Given the description of an element on the screen output the (x, y) to click on. 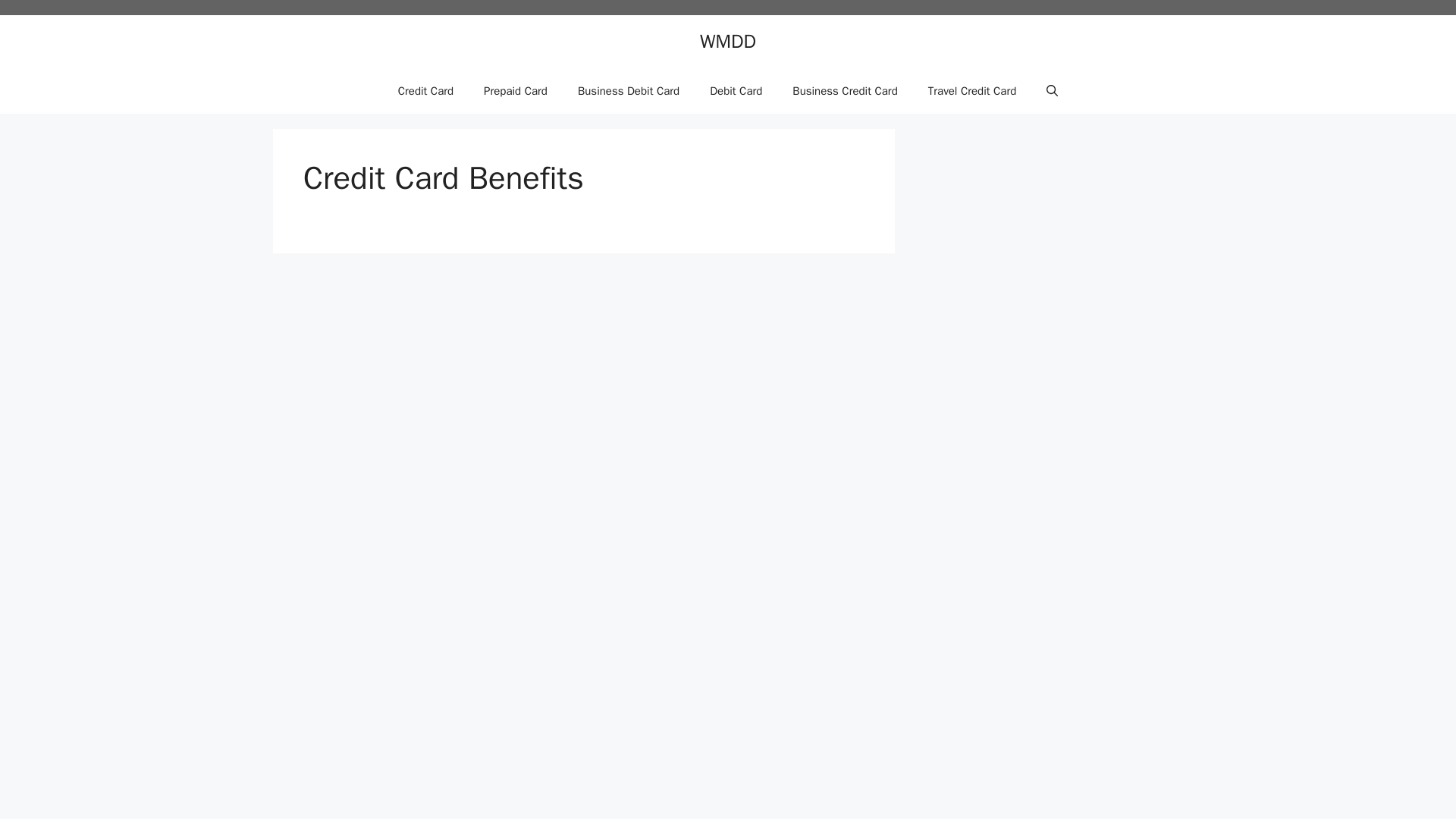
Business Debit Card (628, 90)
Business Credit Card (844, 90)
WMDD (727, 41)
Debit Card (735, 90)
Prepaid Card (515, 90)
Credit Card (425, 90)
Travel Credit Card (972, 90)
